Given the description of an element on the screen output the (x, y) to click on. 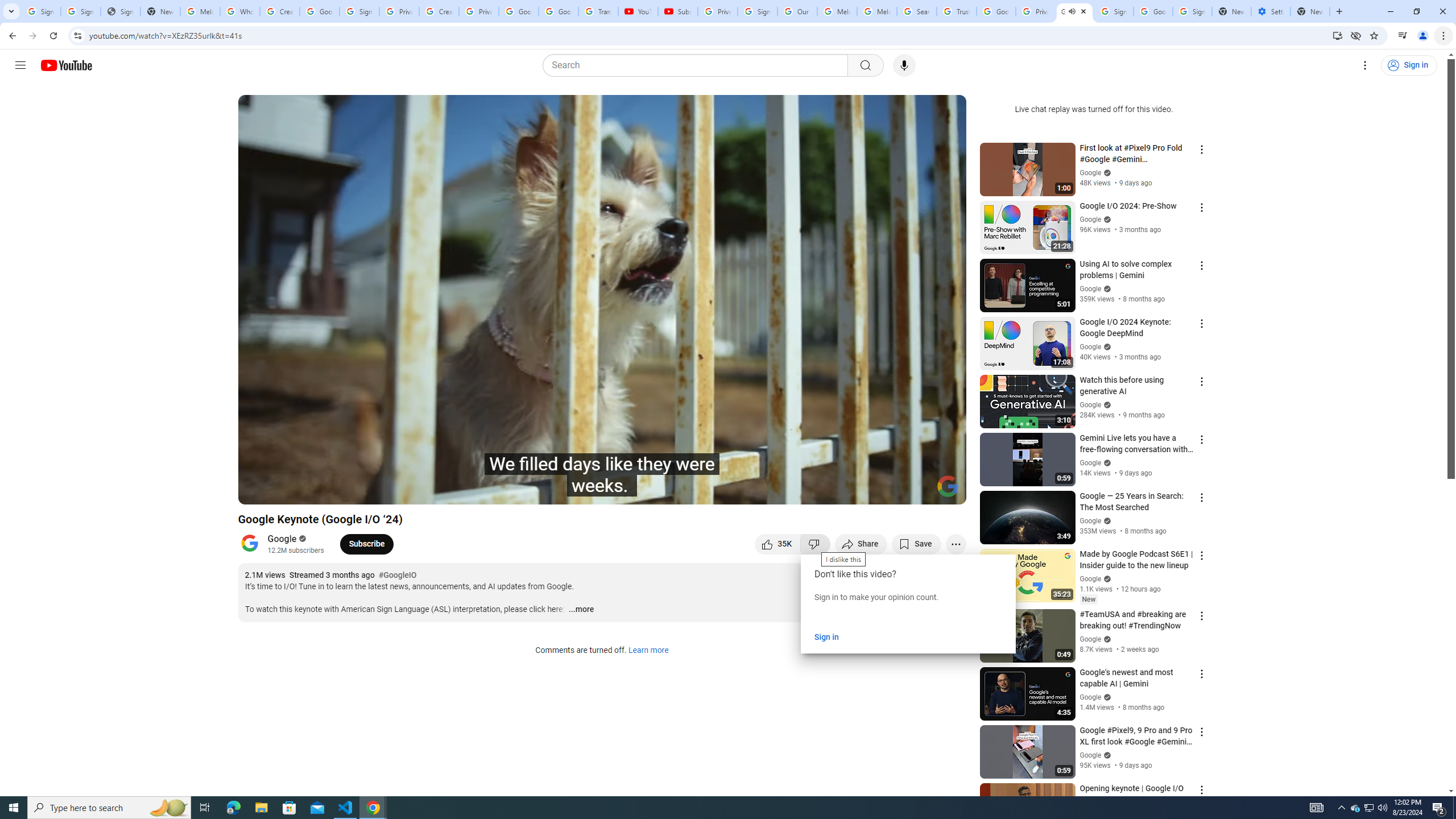
Search our Doodle Library Collection - Google Doodles (916, 11)
Search with your voice (903, 65)
Sign in - Google Accounts (1113, 11)
New Tab (1310, 11)
Seek slider (601, 476)
Action menu (1200, 789)
Miniplayer (i) (890, 490)
Theater mode (t) (917, 490)
